Given the description of an element on the screen output the (x, y) to click on. 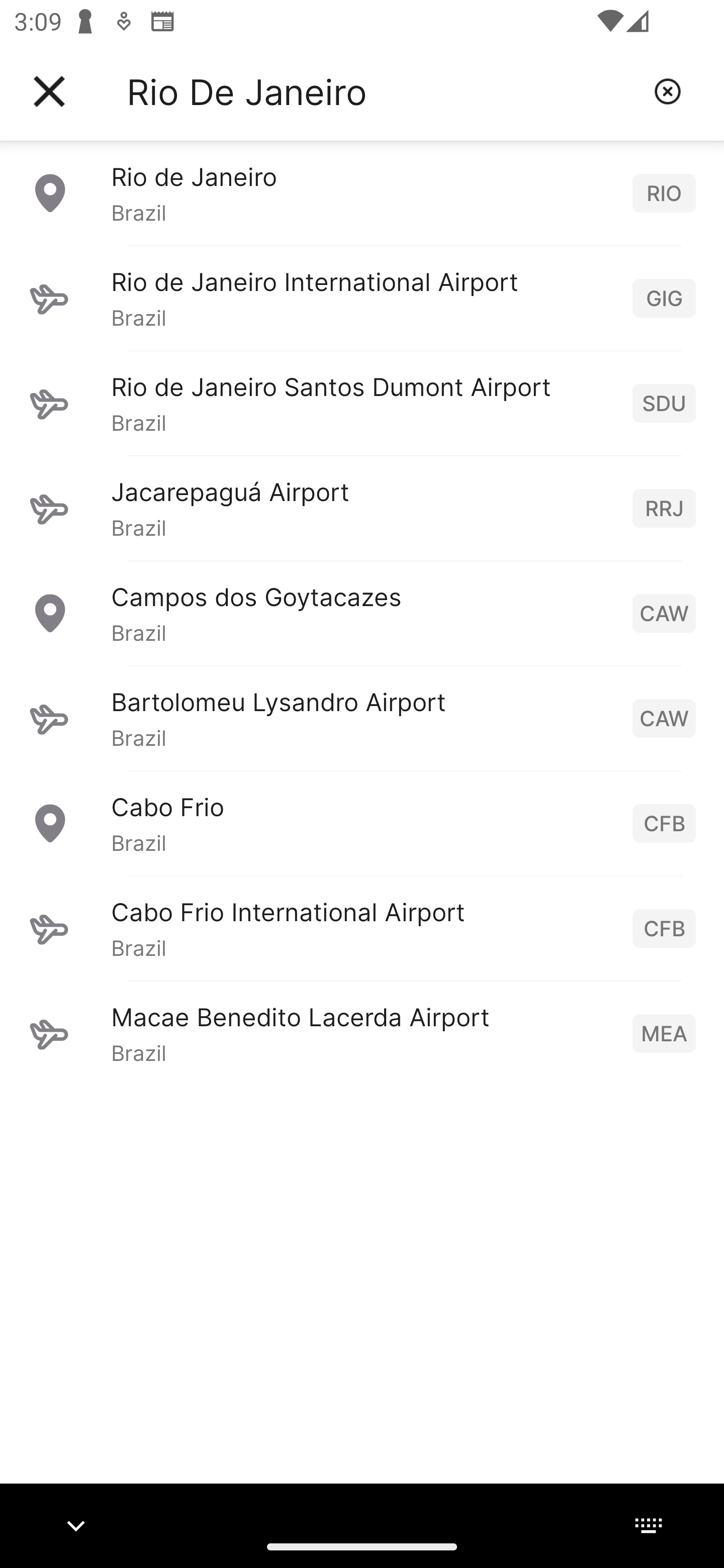
Rio De Janeiro (382, 91)
Rio de Janeiro Brazil RIO (362, 192)
Rio de Janeiro International Airport Brazil GIG (362, 297)
Rio de Janeiro Santos Dumont Airport Brazil SDU (362, 402)
Jacarepaguá Airport Brazil RRJ (362, 507)
Campos dos Goytacazes Brazil CAW (362, 612)
Bartolomeu Lysandro Airport Brazil CAW (362, 717)
Cabo Frio Brazil CFB (362, 822)
Cabo Frio International Airport Brazil CFB (362, 928)
Macae Benedito Lacerda Airport Brazil MEA (362, 1033)
